Given the description of an element on the screen output the (x, y) to click on. 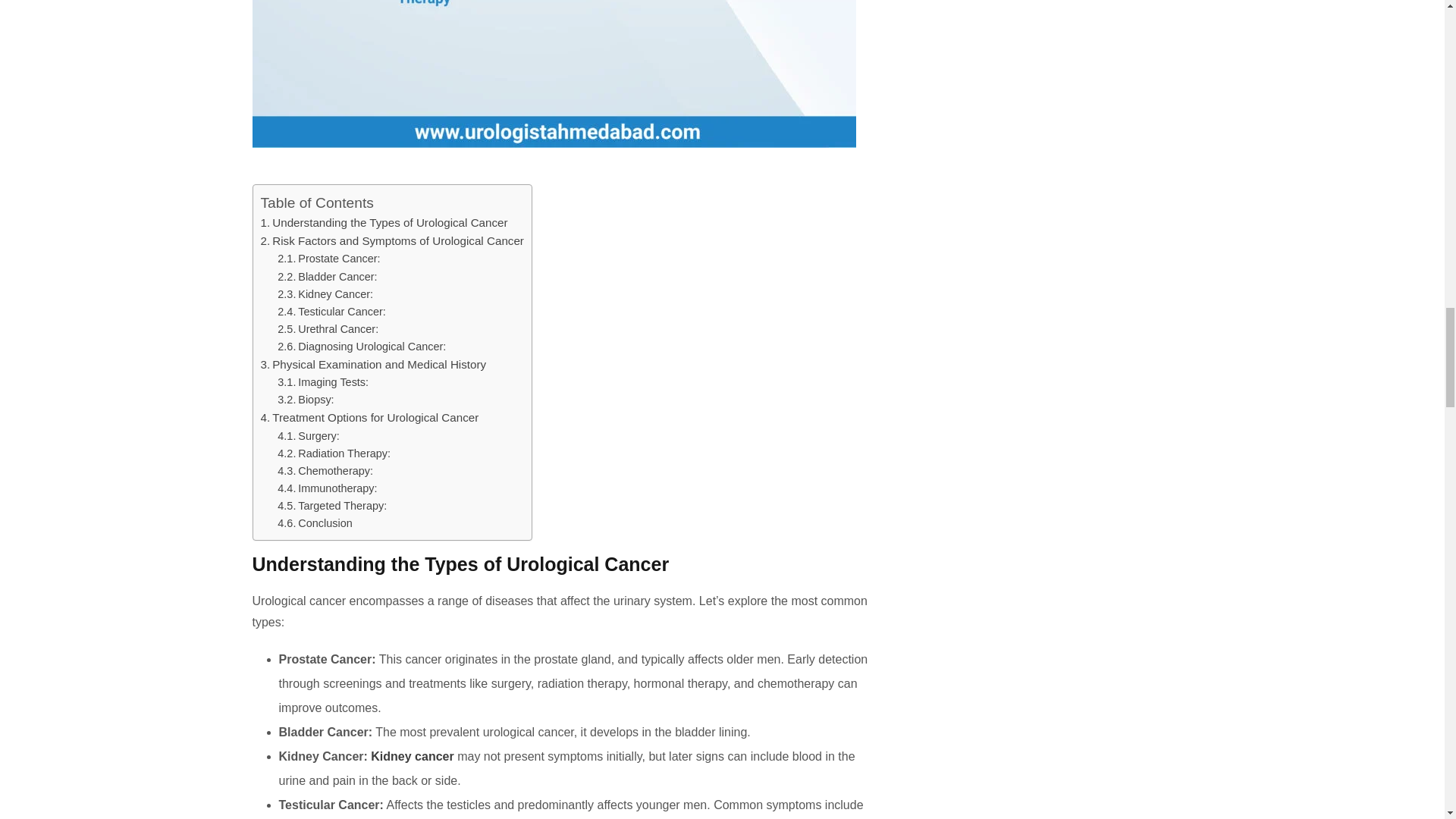
Urethral Cancer: (328, 328)
Kidney Cancer: (325, 294)
Diagnosing Urological Cancer: (361, 346)
Testicular Cancer: (331, 311)
Bladder Cancer: (327, 275)
Understanding the Types of Urological Cancer (384, 222)
Risk Factors and Symptoms of Urological Cancer (392, 240)
Prostate Cancer: (329, 258)
